Given the description of an element on the screen output the (x, y) to click on. 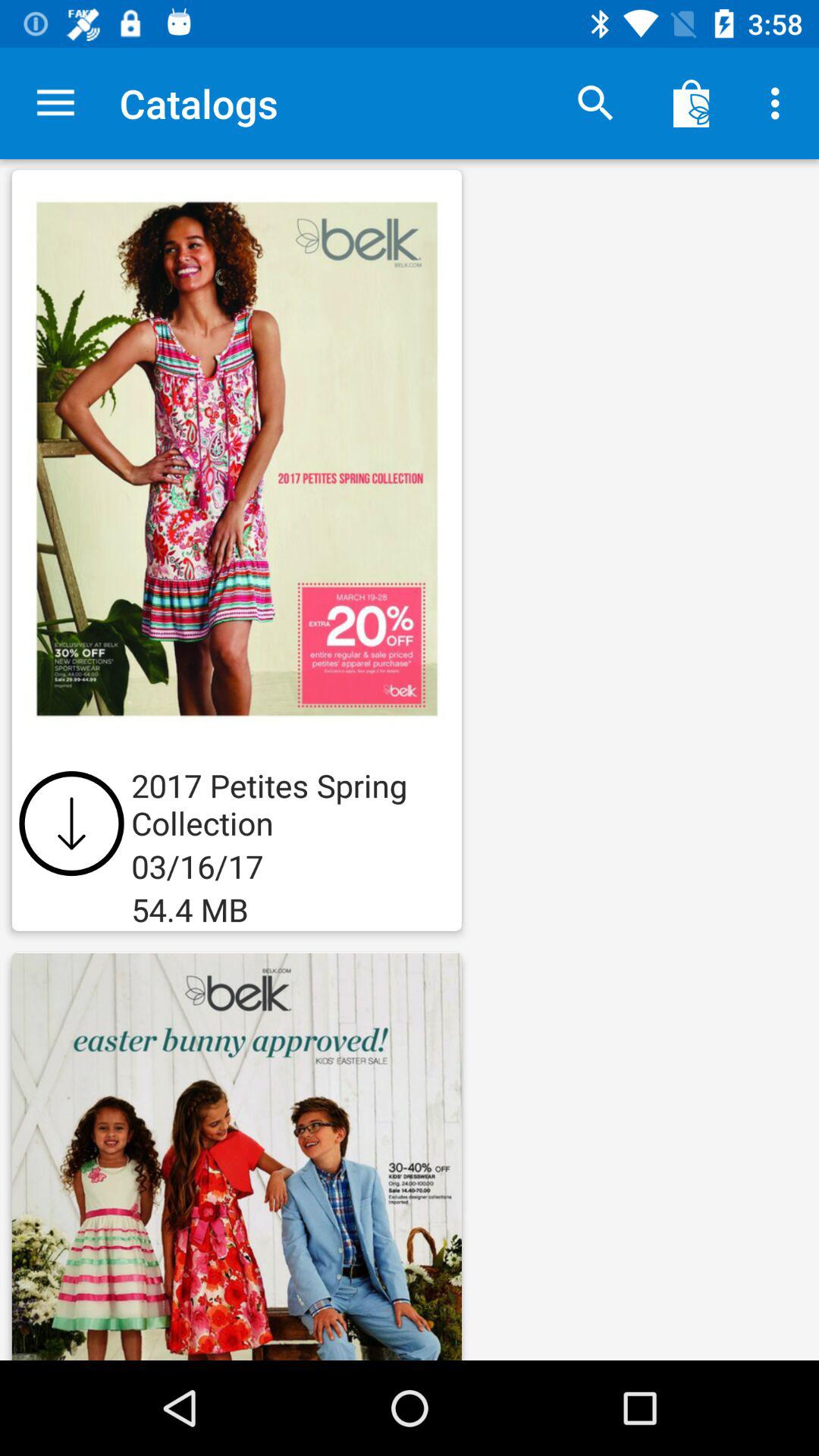
choose item next to 2017 petites spring item (71, 823)
